Given the description of an element on the screen output the (x, y) to click on. 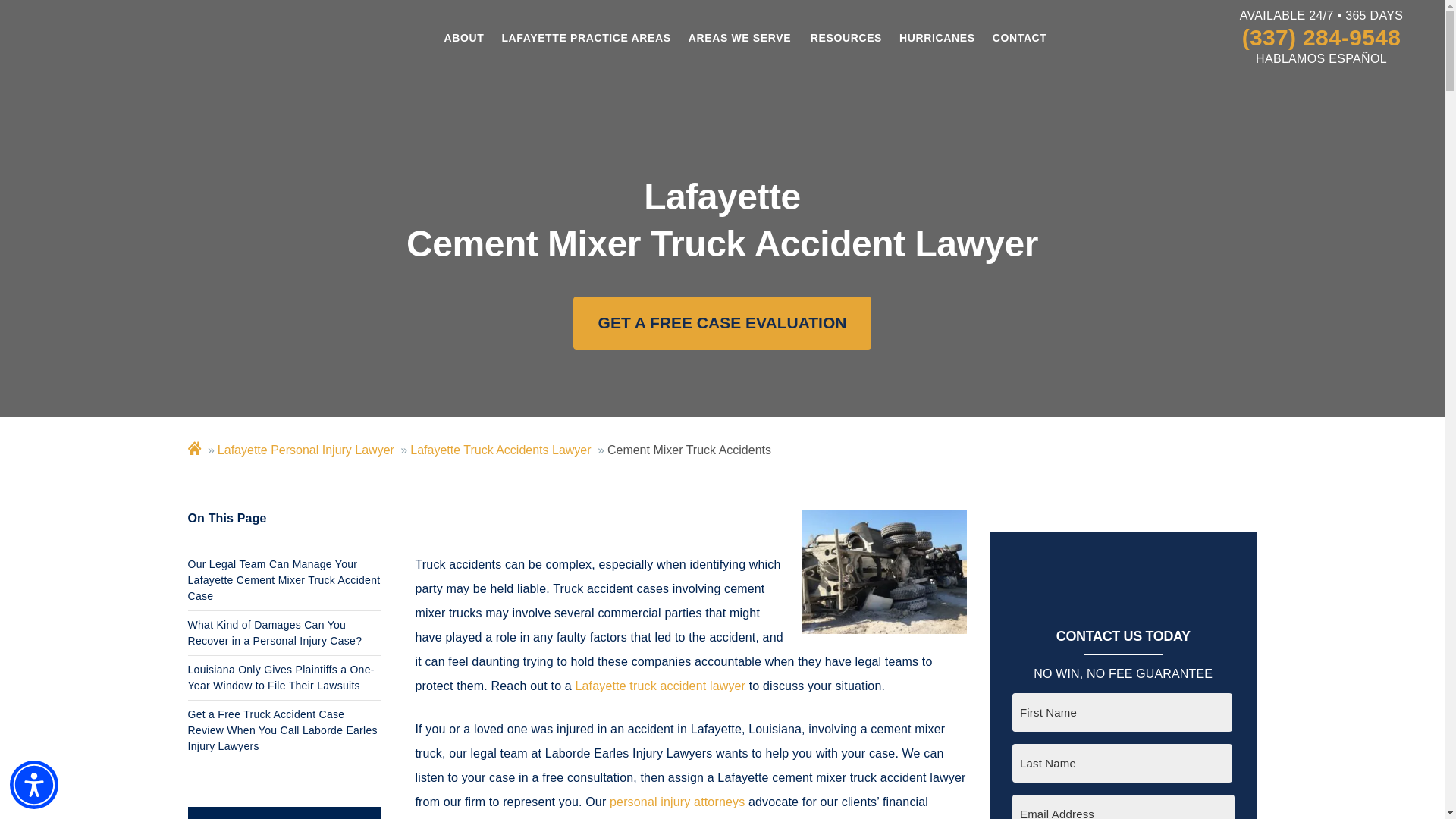
AREAS WE SERVE (739, 38)
LAFAYETTE PRACTICE AREAS (584, 38)
Accessibility Menu (34, 784)
Call Now Laborde Earles Law Firm (1320, 37)
ABOUT (464, 38)
Laborde Earles Injury Lawyers (148, 48)
